Given the description of an element on the screen output the (x, y) to click on. 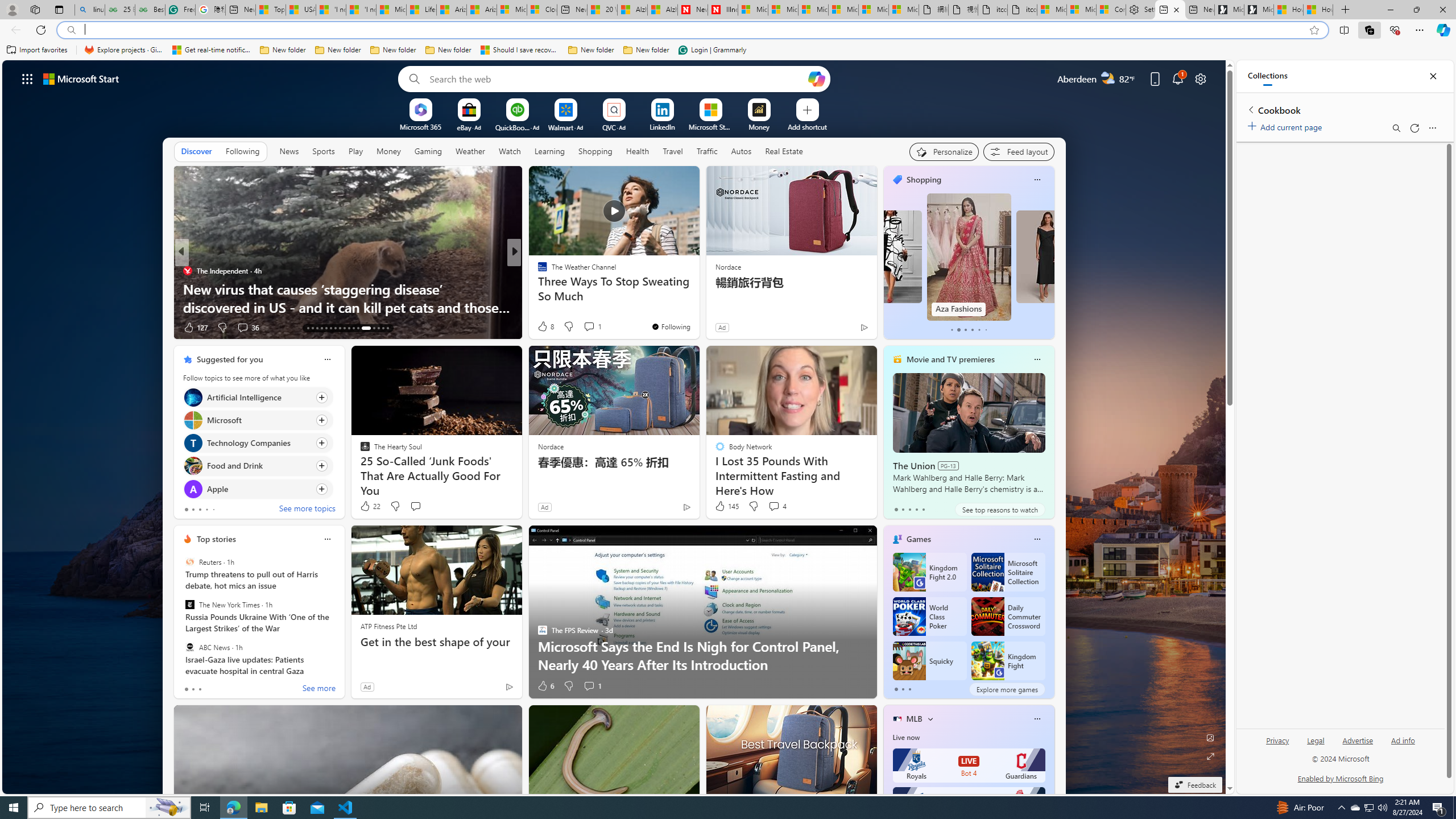
8 Like (545, 326)
tab-0 (895, 689)
AutomationID: tab-14 (312, 328)
How to Use a TV as a Computer Monitor (1318, 9)
Click to follow topic Microsoft (257, 419)
12 Healthy Habits That Could Help You Live Longer (697, 307)
AutomationID: tab-15 (317, 328)
